Given the description of an element on the screen output the (x, y) to click on. 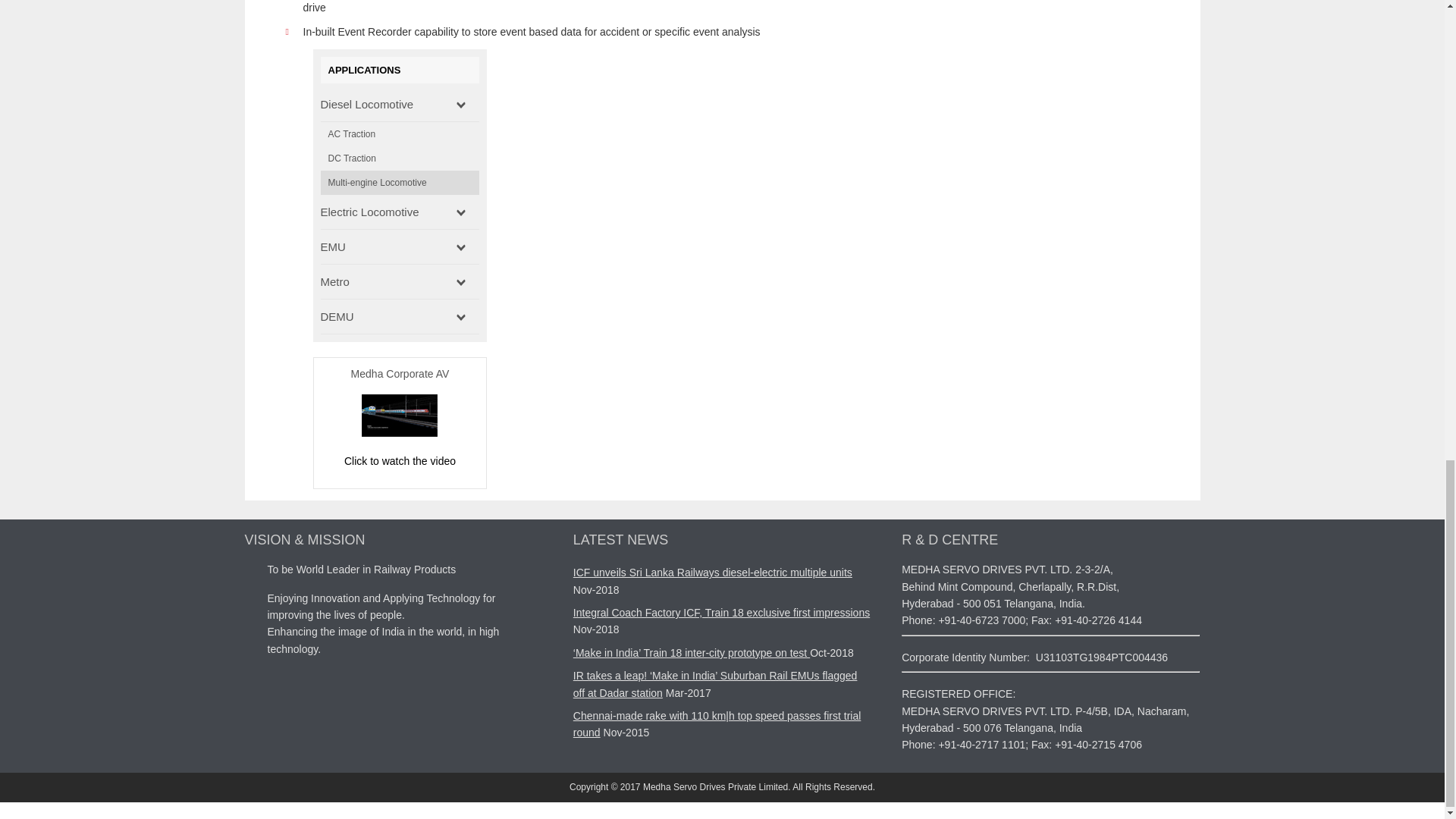
Medha AV (399, 432)
Medha Audio Visual (399, 460)
